Given the description of an element on the screen output the (x, y) to click on. 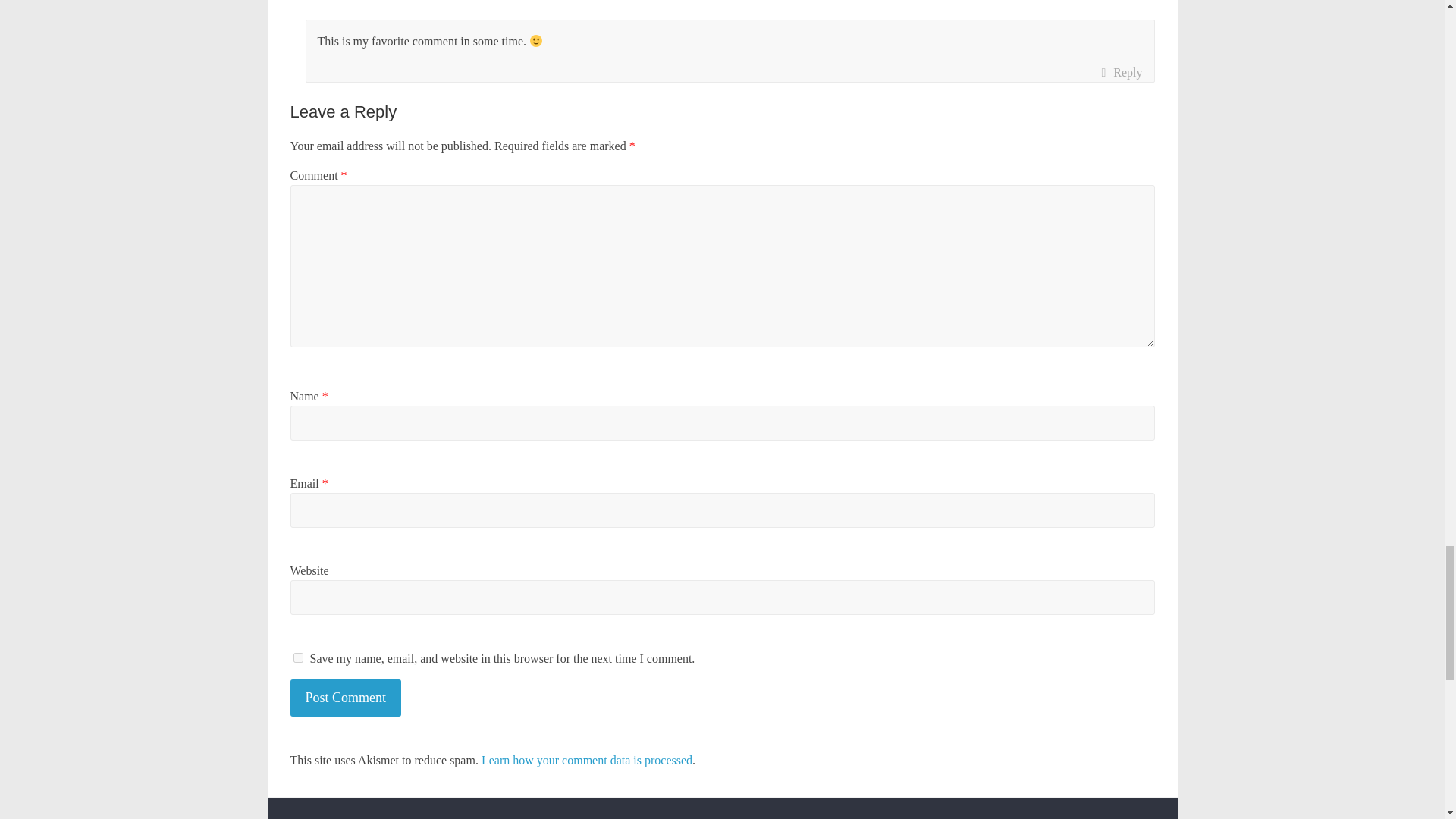
Post Comment (345, 697)
yes (297, 657)
